Given the description of an element on the screen output the (x, y) to click on. 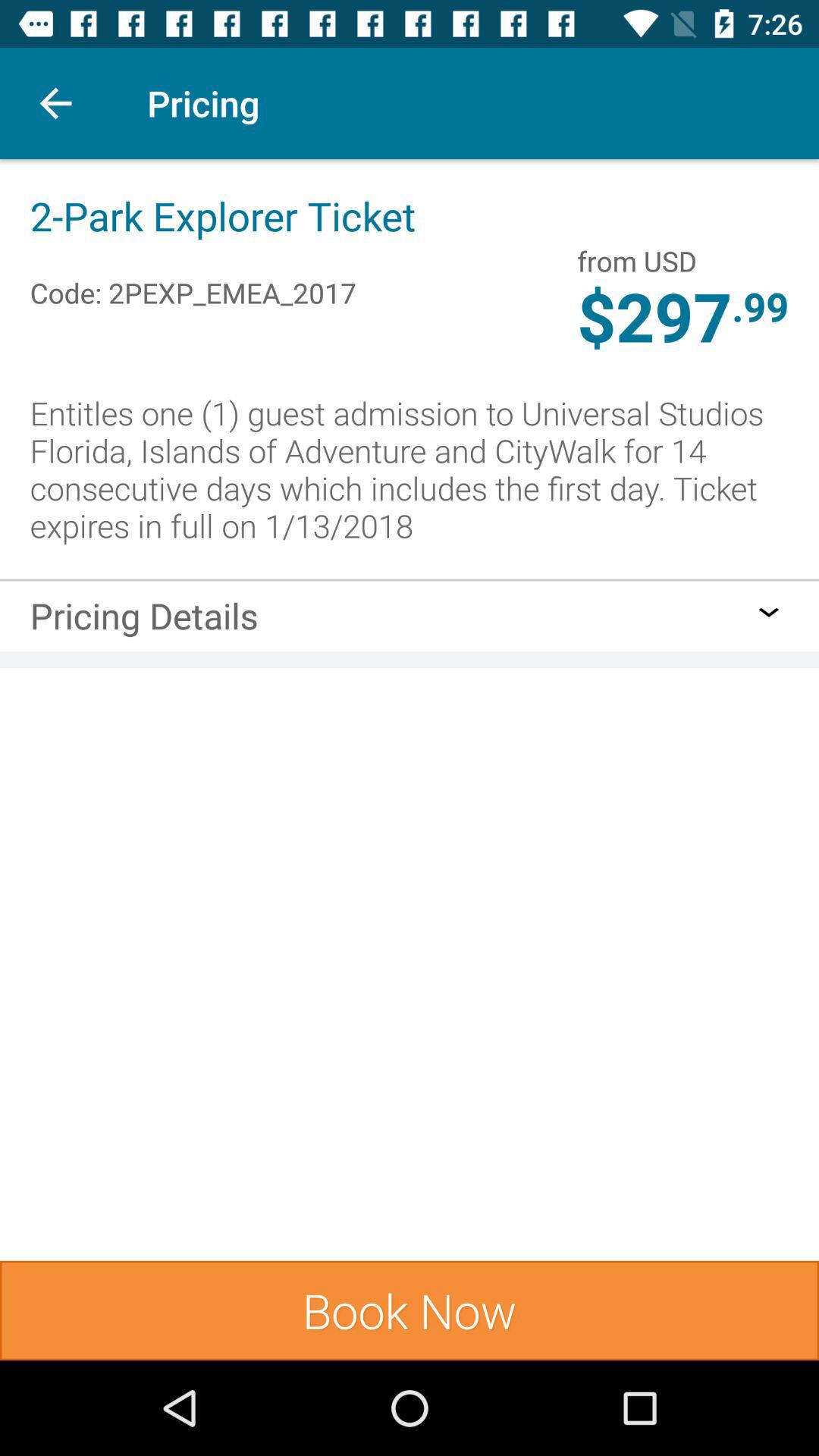
click icon next to the pricing details icon (768, 612)
